Given the description of an element on the screen output the (x, y) to click on. 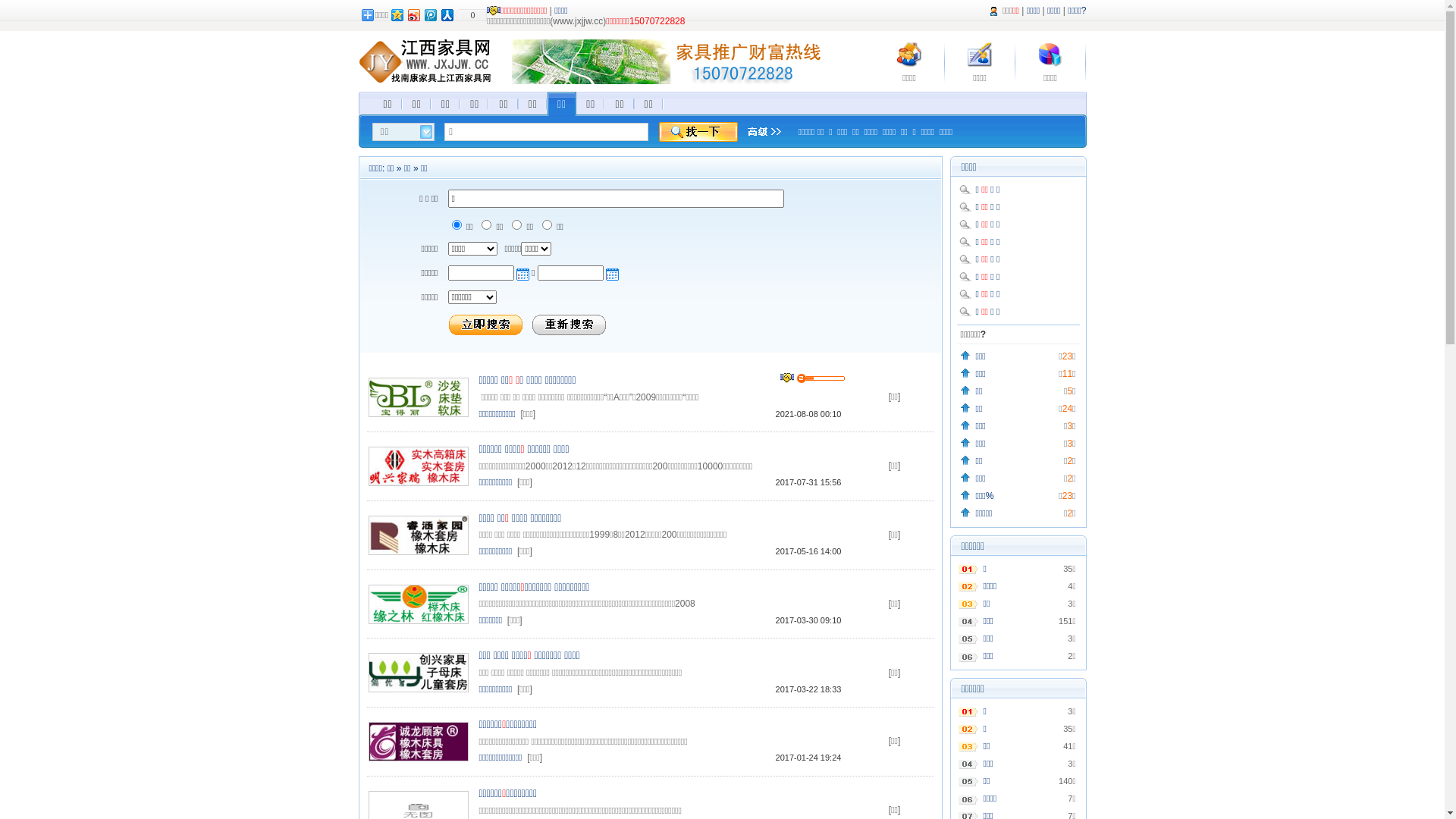
0 Element type: text (470, 15)
